Given the description of an element on the screen output the (x, y) to click on. 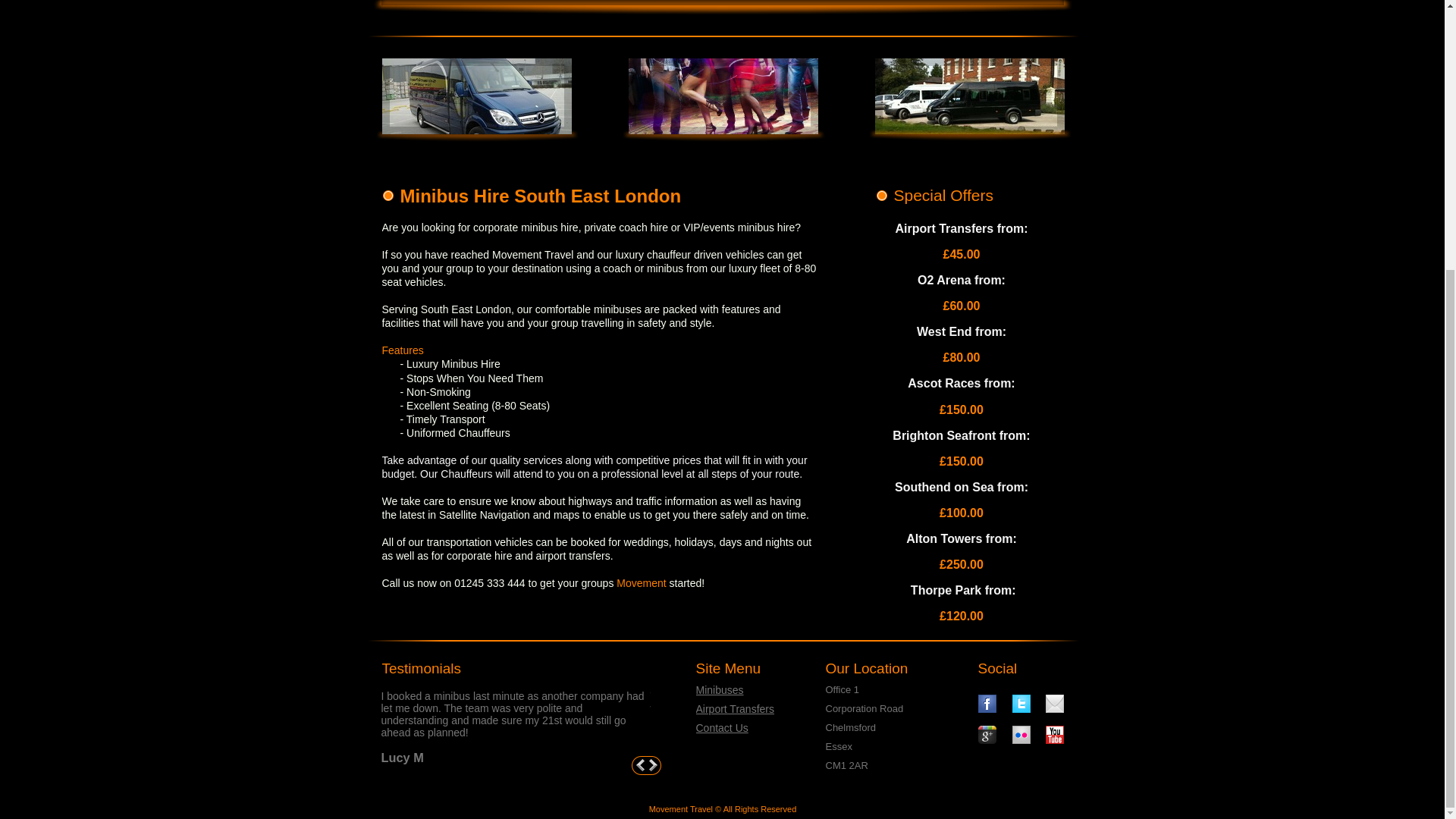
Minibuses (719, 689)
Airport Transfers (734, 708)
Contact Us (721, 727)
